Given the description of an element on the screen output the (x, y) to click on. 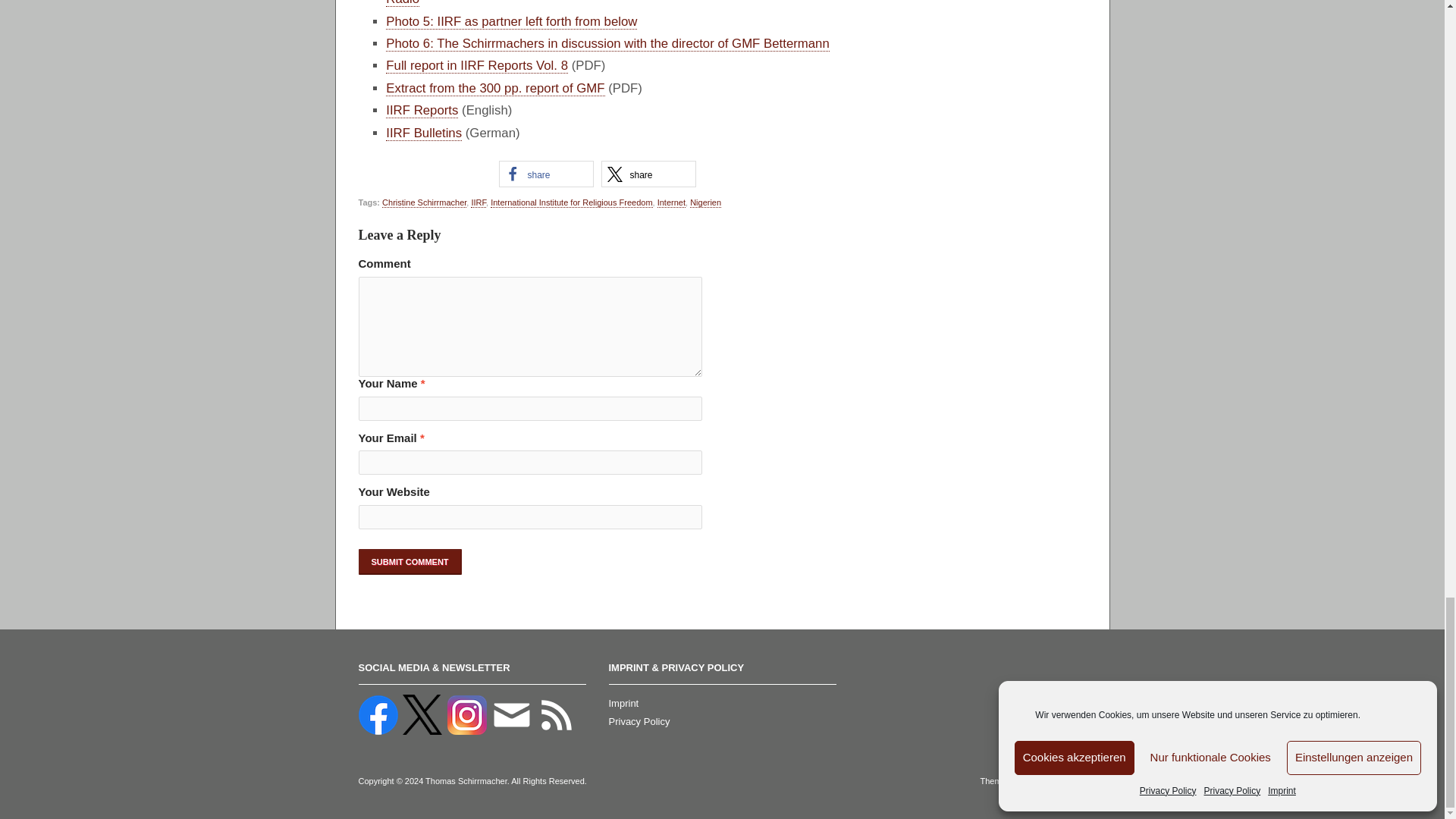
PDF IIRF Reports Vol. 8 (476, 65)
IIRF Bulletins (423, 133)
Submit Comment (409, 561)
Photo 4 (599, 3)
PDF Extract from the 300 pp. report of GMF (494, 88)
IIRF Reports (421, 110)
Share on Facebook (546, 173)
Photo 6 (606, 43)
Share on X (647, 173)
Photo 5 (511, 21)
